Given the description of an element on the screen output the (x, y) to click on. 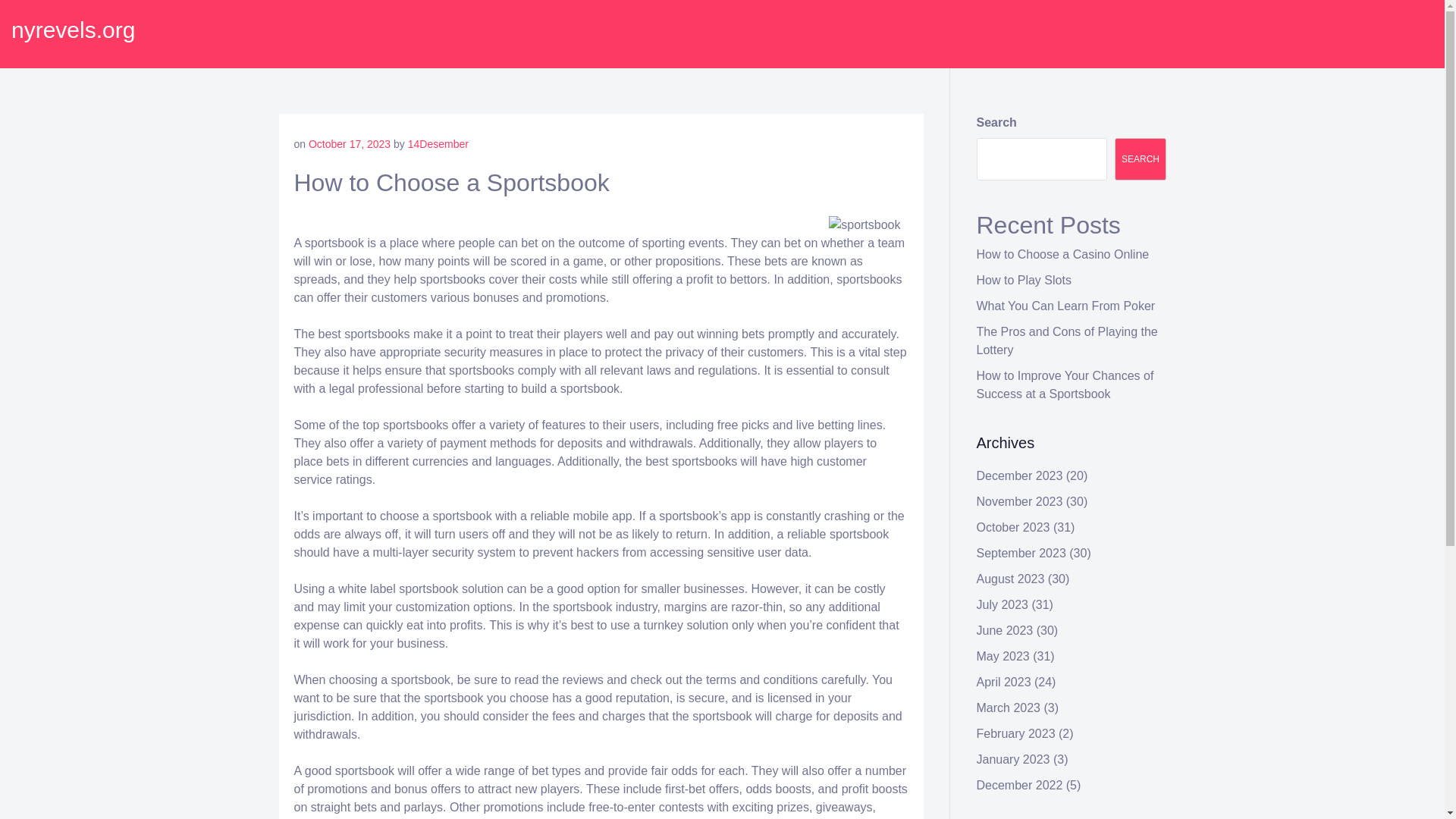
SEARCH (1140, 159)
May 2023 (1002, 656)
December 2023 (1019, 475)
14Desember (437, 143)
November 2023 (1019, 501)
nyrevels.org (73, 29)
What You Can Learn From Poker (1066, 305)
October 17, 2023 (349, 143)
The Pros and Cons of Playing the Lottery (1066, 340)
How to Play Slots (1023, 279)
